Given the description of an element on the screen output the (x, y) to click on. 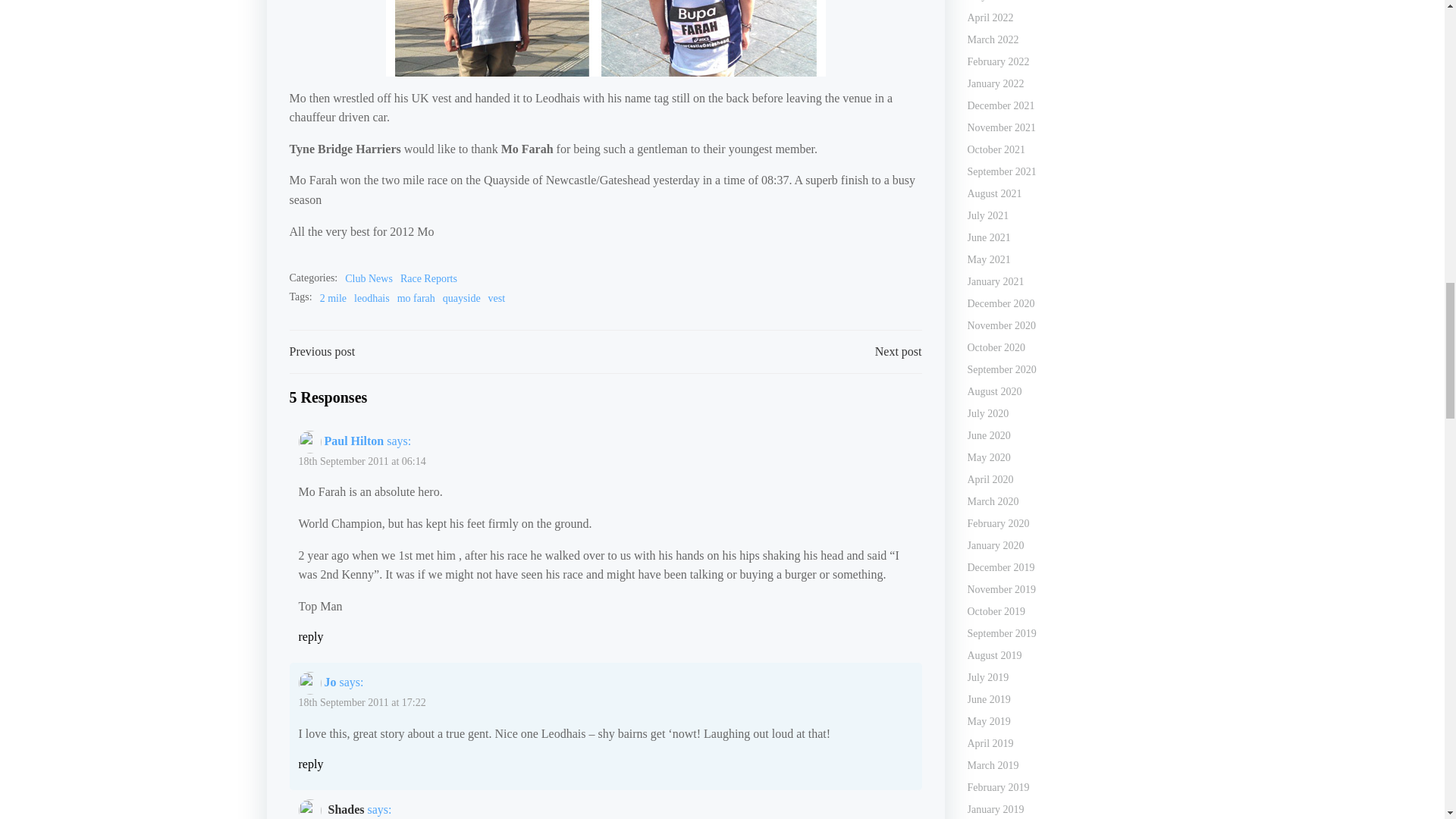
2 mile Tag (333, 298)
leodhais Tag (371, 298)
mo farah Tag (416, 298)
Race Reports (428, 279)
Leodhais MacPherson with Mo Farahs vest - A Very Hapy Boy (605, 38)
Club News (369, 279)
vest Tag (496, 298)
quayside Tag (461, 298)
